Given the description of an element on the screen output the (x, y) to click on. 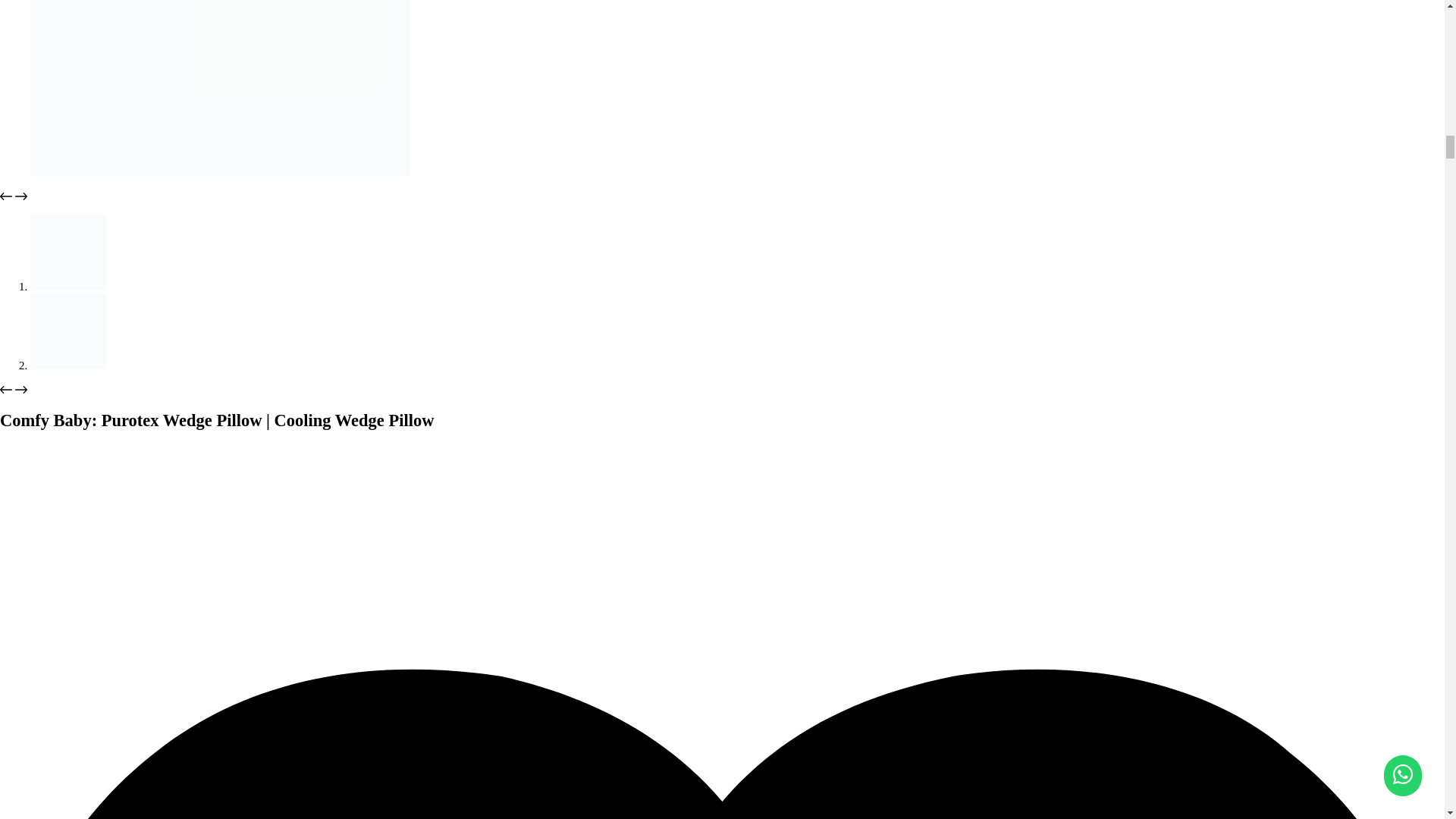
Comfy Baby Purotex Wedge Pillow (68, 252)
Comfy Baby Purotex Wedge Pillow (219, 88)
Comfy Baby Purotex Wedge Pillow (68, 331)
